Given the description of an element on the screen output the (x, y) to click on. 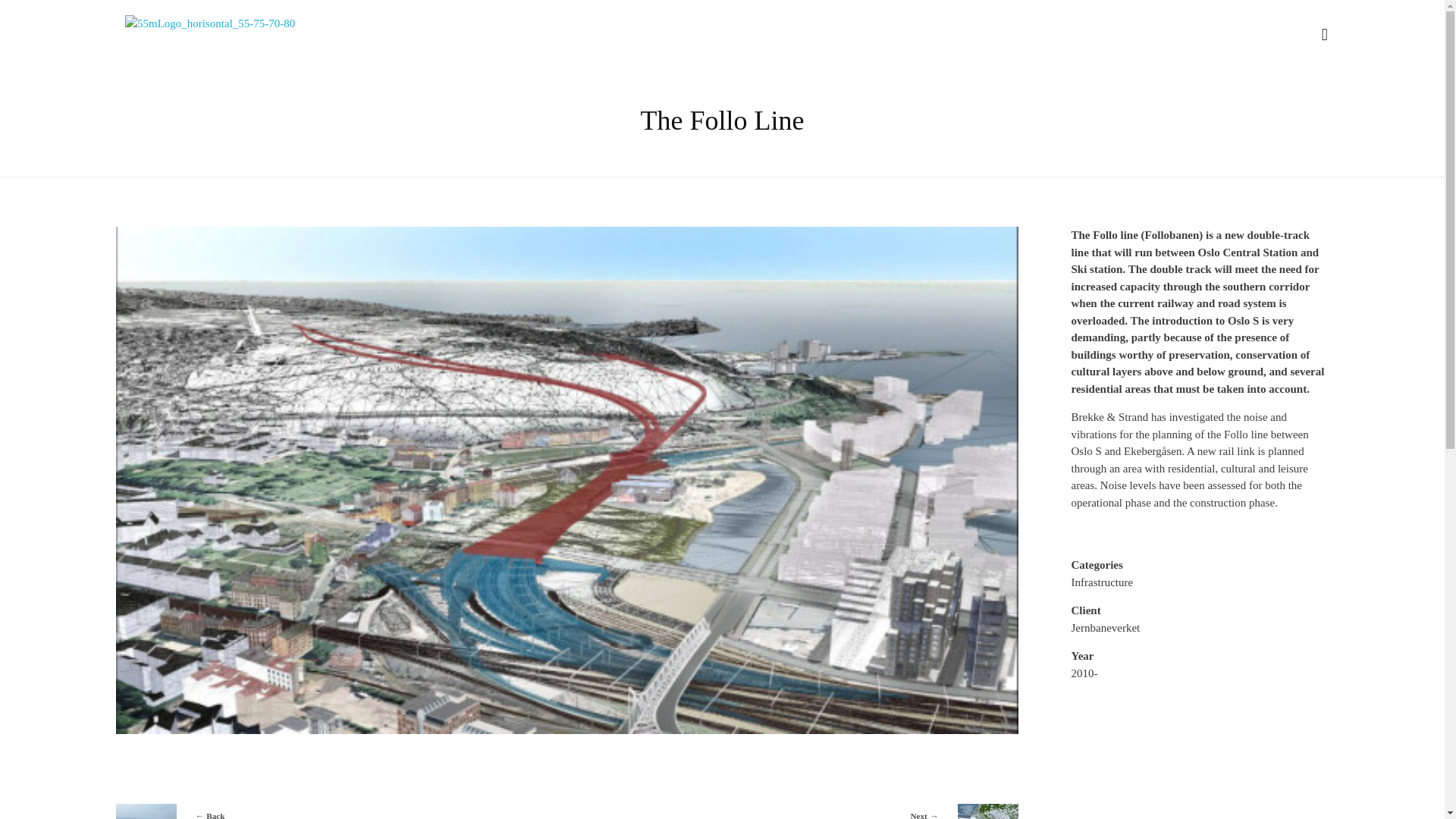
Infrastructure (797, 811)
Brekke Strand Akustikk (334, 811)
Brekke Strand Akustikk (1101, 582)
View all posts in Infrastructure (371, 34)
Brekke Strand Akustikk (211, 61)
